Given the description of an element on the screen output the (x, y) to click on. 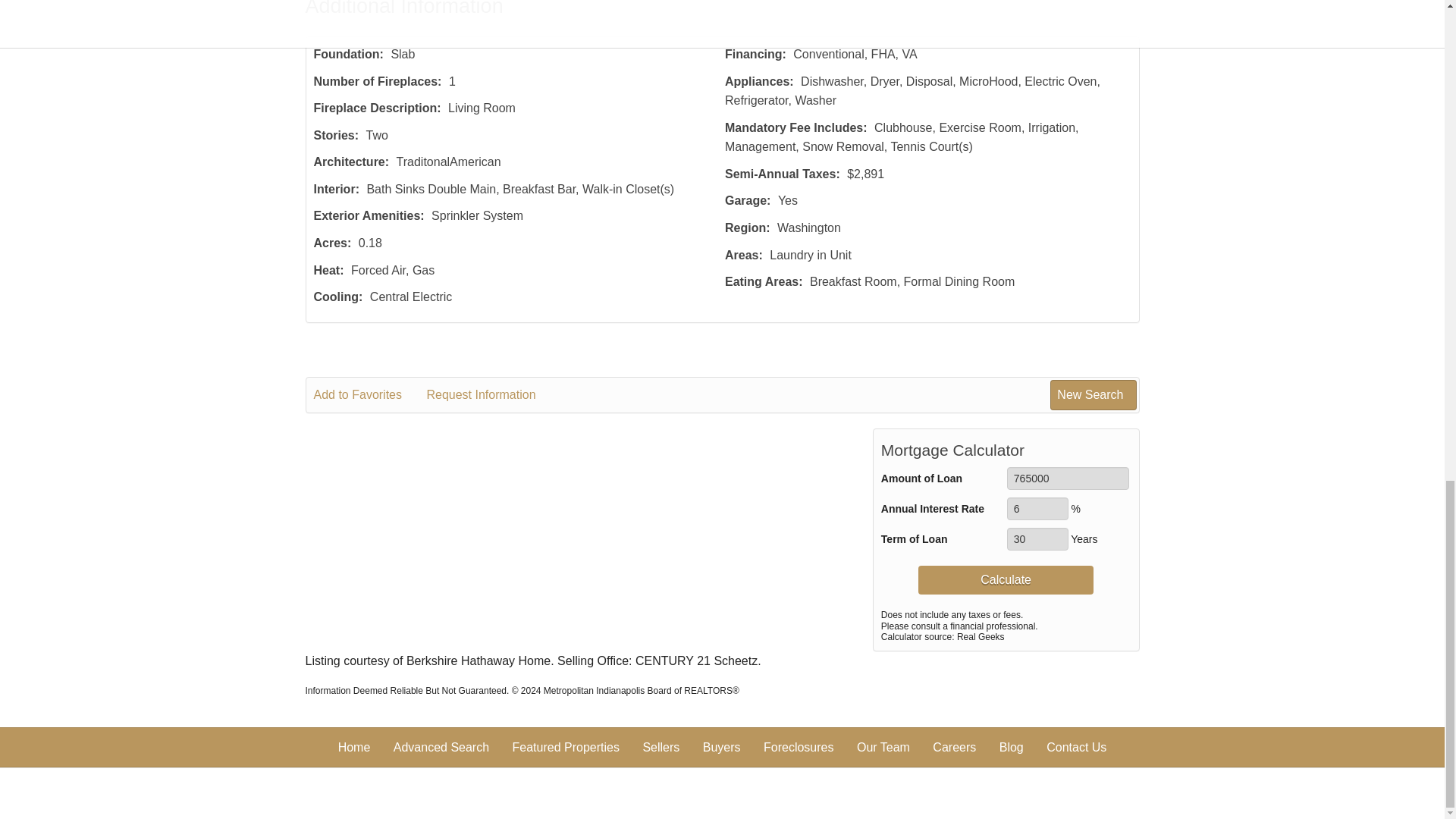
765000 (1068, 477)
6 (1037, 508)
30 (1037, 538)
